Given the description of an element on the screen output the (x, y) to click on. 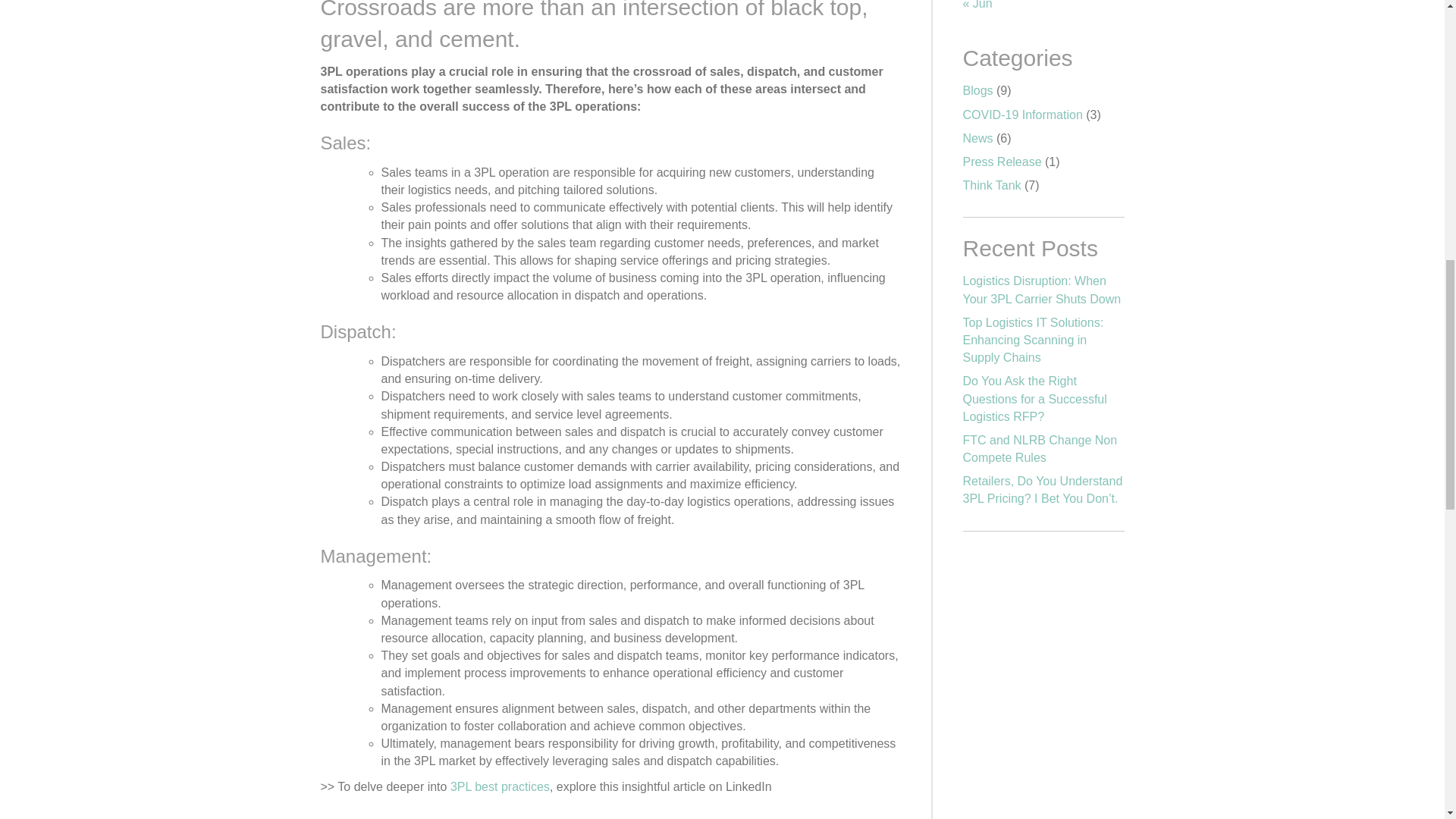
News (977, 137)
COVID-19 Information (1022, 114)
3PL best practices (499, 786)
Blogs (977, 90)
